Given the description of an element on the screen output the (x, y) to click on. 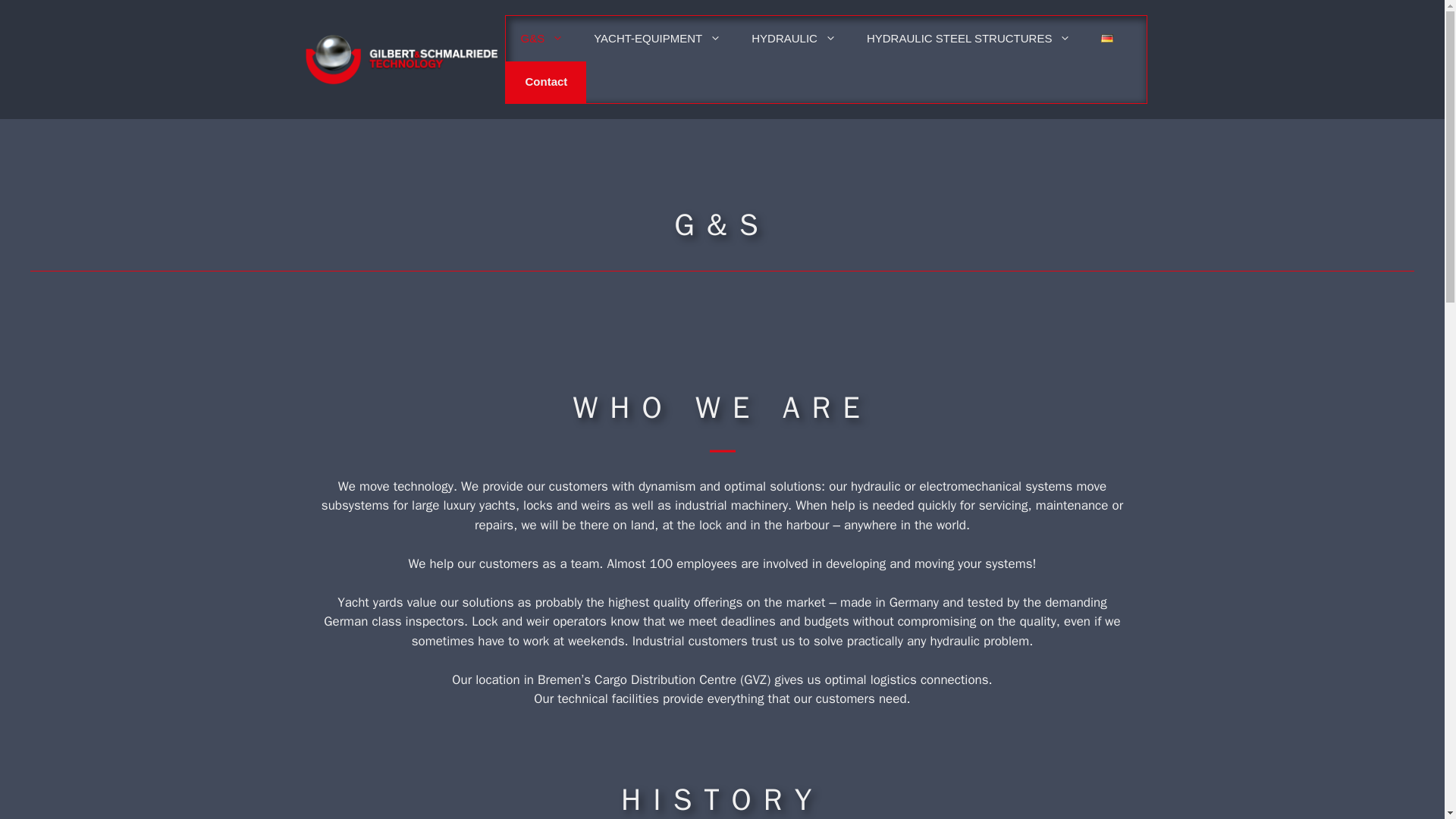
HYDRAULIC STEEL STRUCTURES (968, 38)
HYDRAULIC (793, 38)
YACHT-EQUIPMENT (657, 38)
Contact (545, 82)
